Given the description of an element on the screen output the (x, y) to click on. 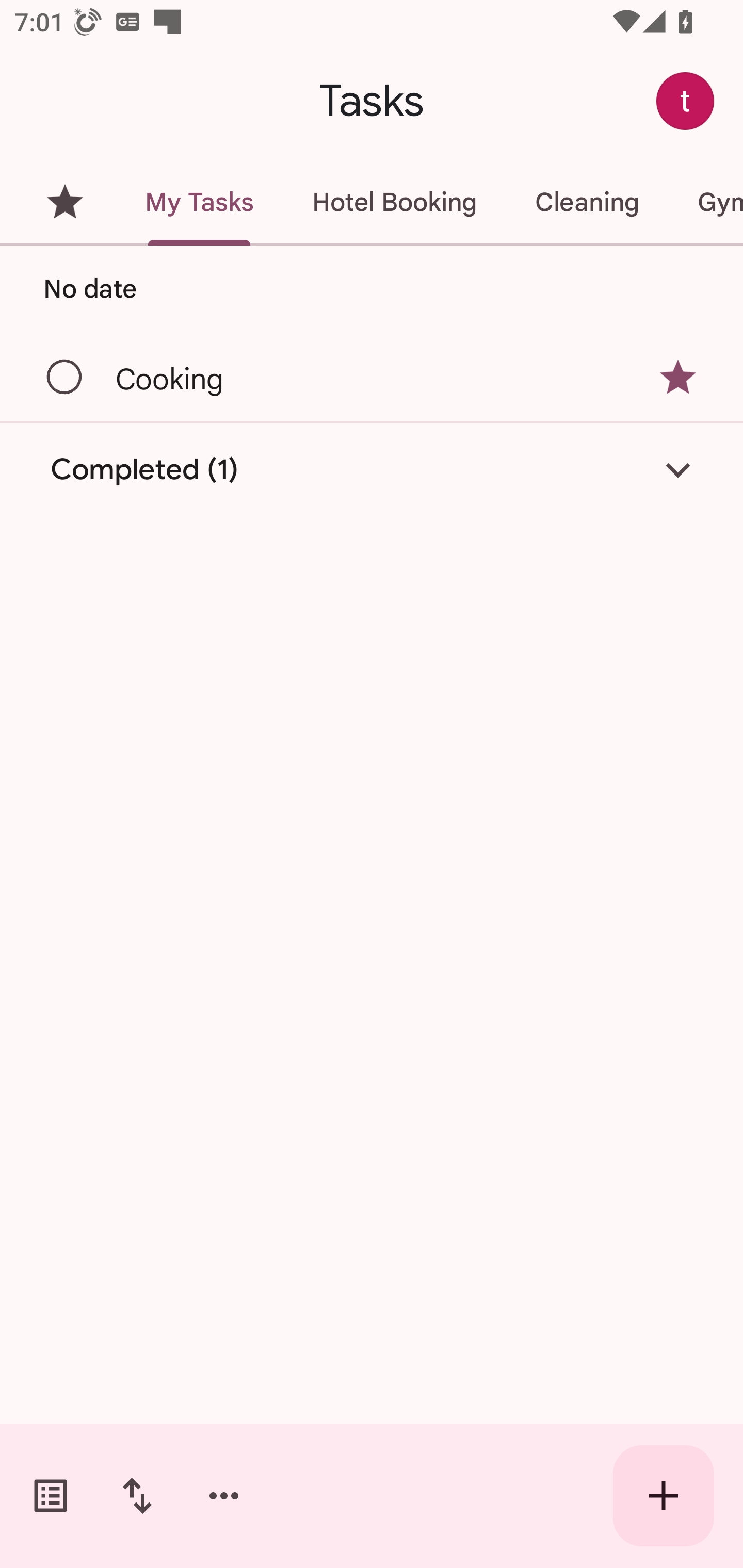
Starred (64, 202)
Hotel Booking (394, 202)
Cleaning (586, 202)
Remove star (677, 376)
Mark as complete (64, 377)
Completed (1) (371, 470)
Switch task lists (50, 1495)
Create new task (663, 1495)
Change sort order (136, 1495)
More options (223, 1495)
